Given the description of an element on the screen output the (x, y) to click on. 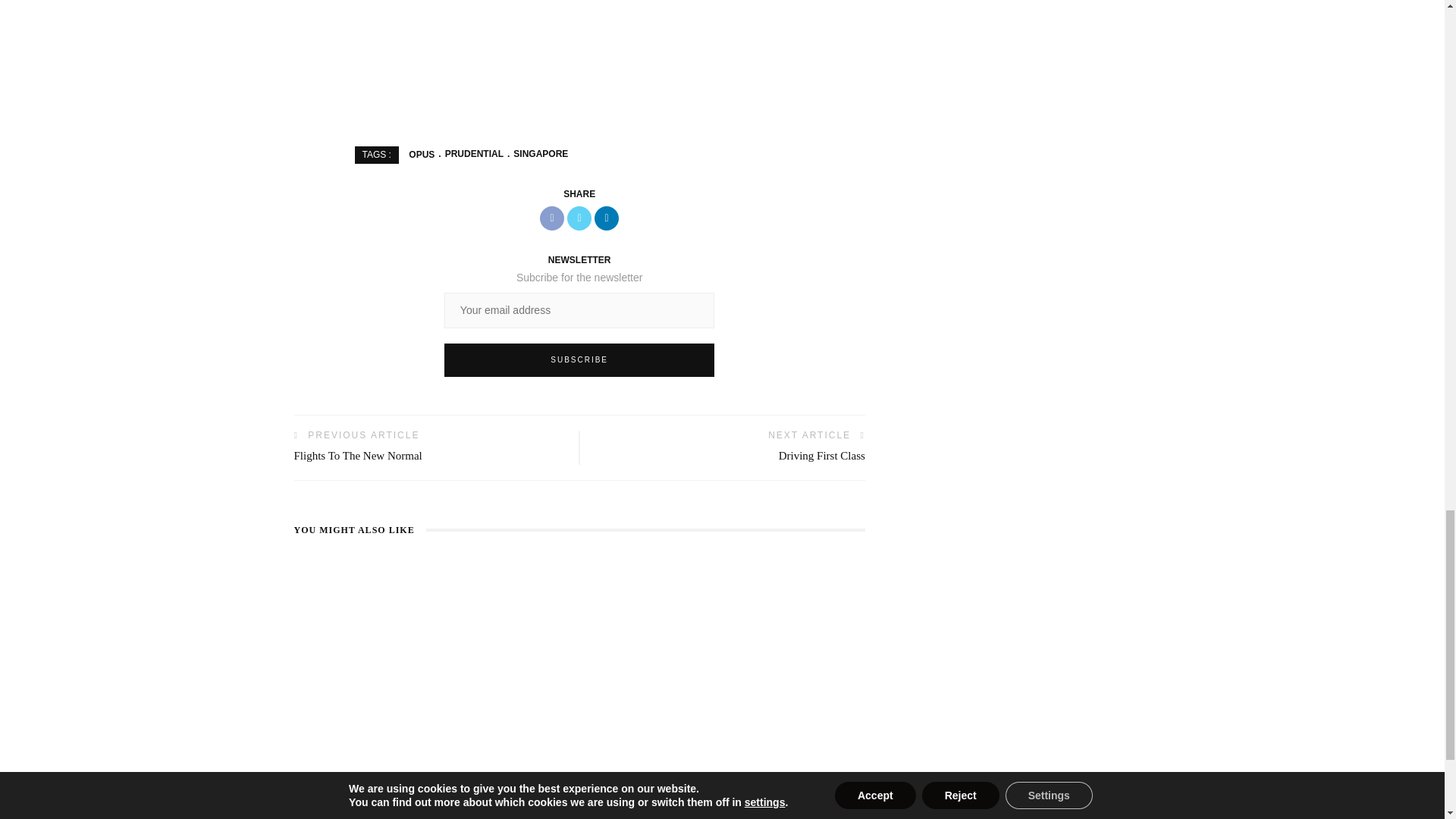
PRUDENTIAL (468, 153)
SINGAPORE (535, 153)
Driving First Class (821, 455)
OPUS (421, 153)
Prudential (468, 153)
Singapore (535, 153)
Flights To The New Normal (358, 455)
Flights To The New Normal (358, 455)
Subscribe (579, 359)
Driving First Class (821, 455)
Opus (421, 153)
Subscribe (579, 359)
